Given the description of an element on the screen output the (x, y) to click on. 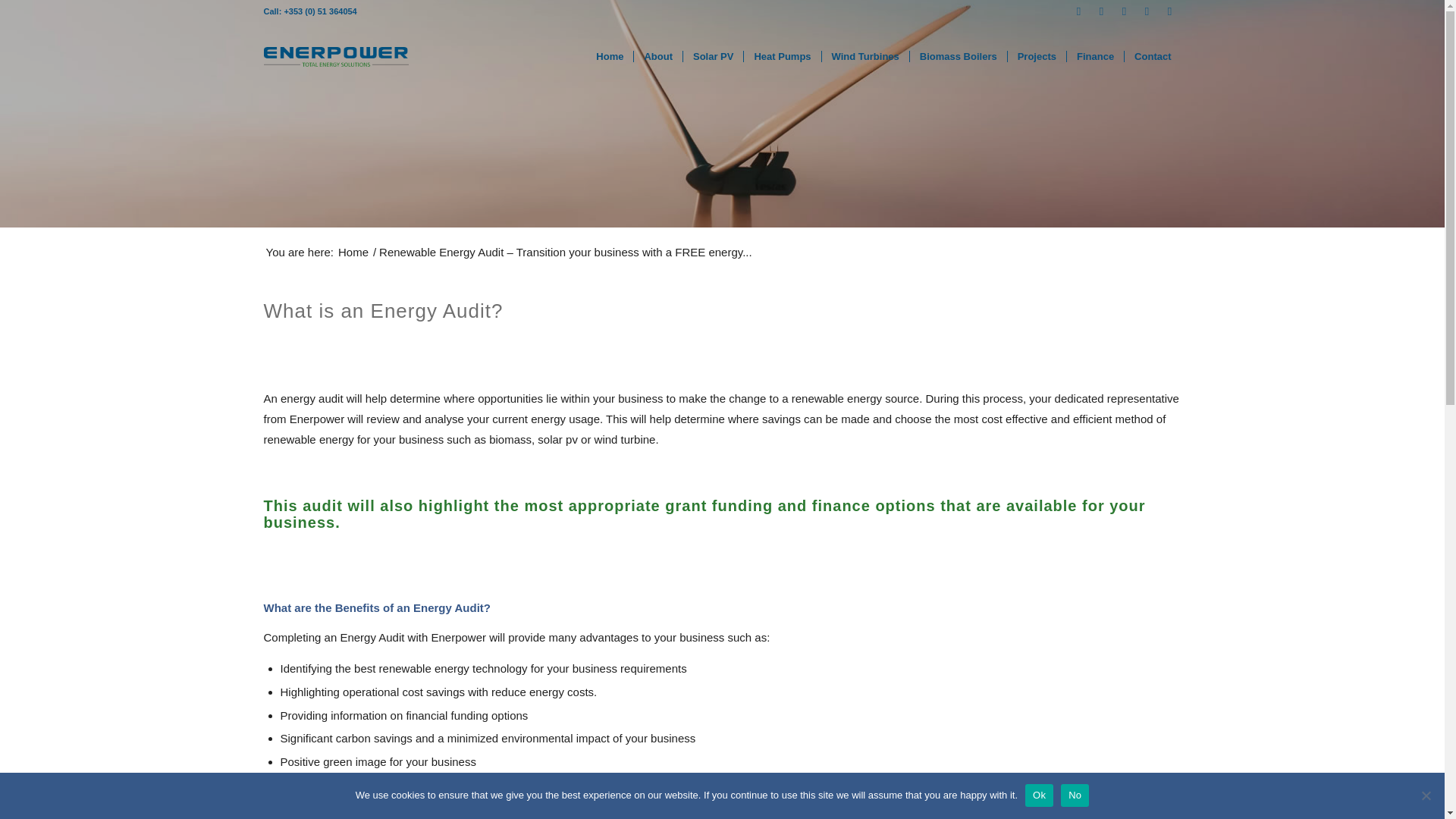
Instagram (1146, 11)
Youtube (1169, 11)
Twitter (1101, 11)
Enerpower (353, 252)
LinkedIn (1124, 11)
Biomass Boilers (957, 56)
Heat Pumps (781, 56)
Wind Turbines (864, 56)
Solar PV (712, 56)
No (1425, 795)
Facebook (1078, 11)
Enerpower-Total-Energy-Solutions (336, 56)
Home (353, 252)
